Given the description of an element on the screen output the (x, y) to click on. 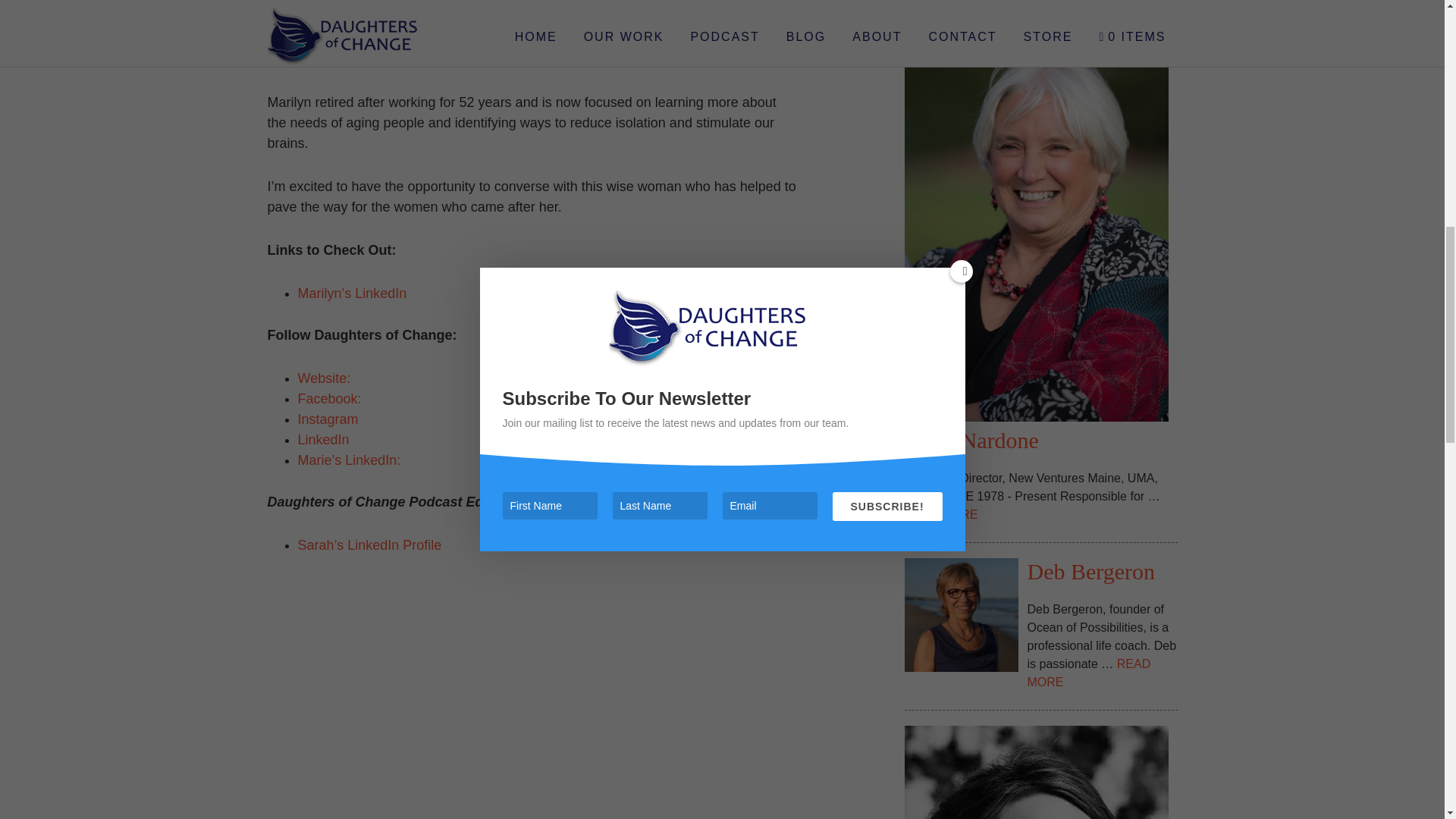
Gilda Nardone (971, 439)
Instagram (327, 418)
Website: (323, 378)
Facebook: (329, 398)
LinkedIn (323, 439)
